Given the description of an element on the screen output the (x, y) to click on. 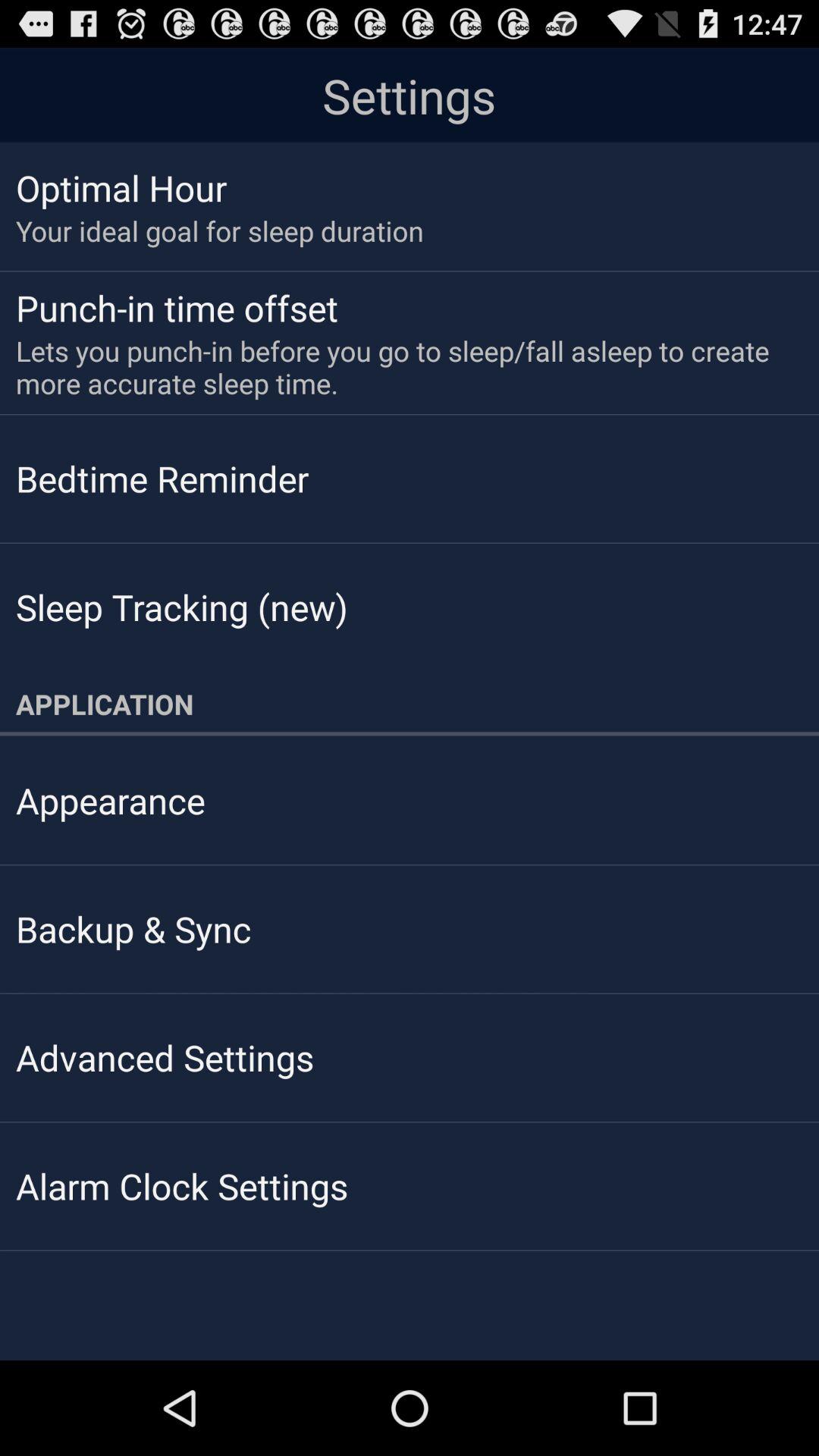
flip until the appearance icon (110, 800)
